Given the description of an element on the screen output the (x, y) to click on. 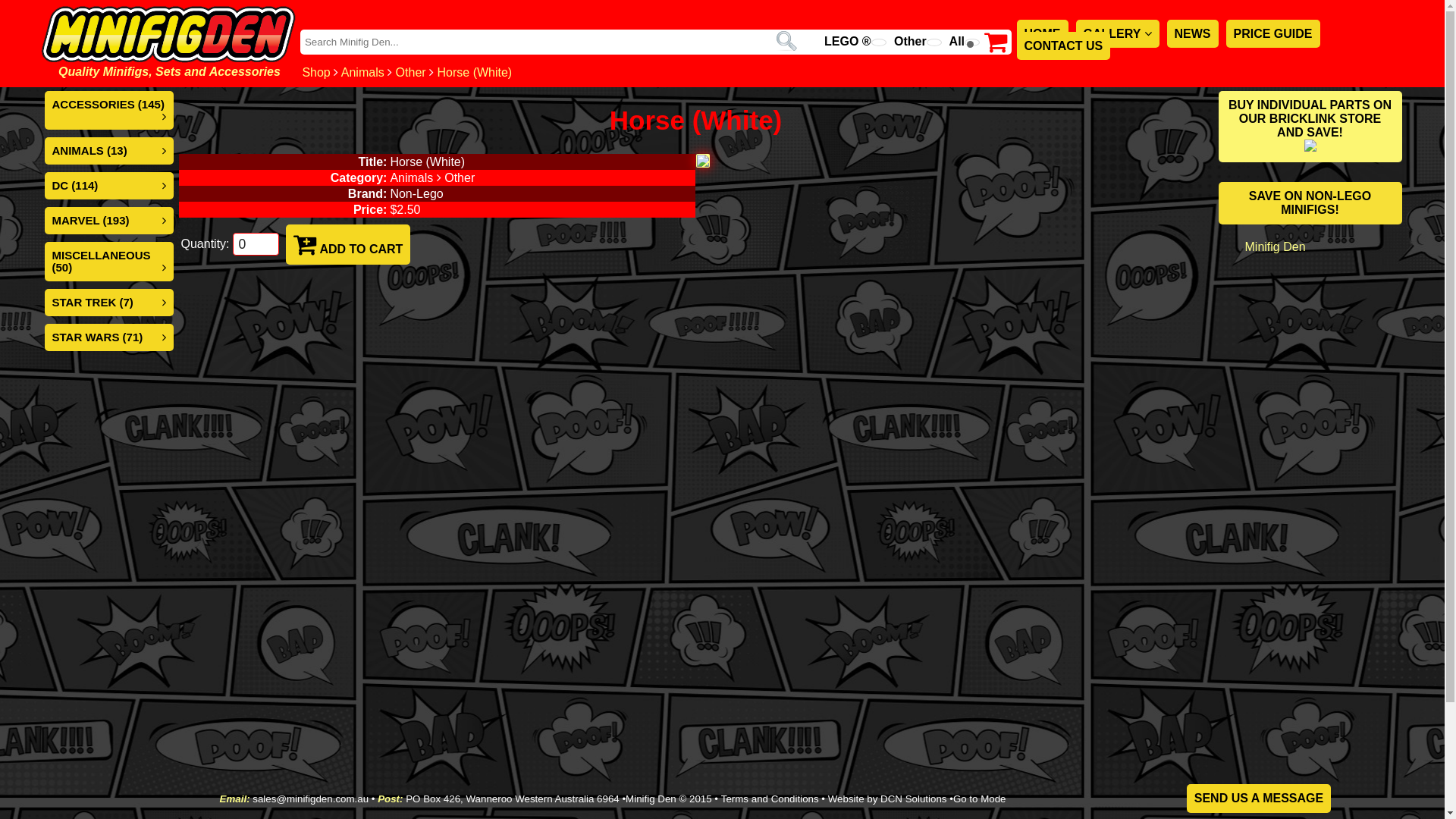
Animals Element type: text (362, 71)
DC (114) Element type: text (74, 184)
Terms and Conditions Element type: text (770, 798)
HOME Element type: text (1041, 33)
Next level Element type: hover (164, 219)
MISCELLANEOUS (50) Element type: text (100, 260)
Next level Element type: hover (164, 185)
Minifig Den Element type: text (1275, 246)
MARVEL (193) Element type: text (89, 219)
SEND US A MESSAGE Element type: text (1258, 798)
Other Element type: text (410, 71)
Add to Cart Element type: hover (304, 244)
ADD TO CART Element type: text (348, 244)
BUY INDIVIDUAL PARTS ON OUR BRICKLINK STORE AND SAVE! Element type: text (1309, 126)
View Cart Element type: hover (995, 41)
Next level Element type: hover (164, 116)
Next level Element type: hover (164, 150)
GALLERY Element type: text (1116, 33)
NEWS Element type: text (1192, 33)
Website by DCN Solutions Element type: text (887, 798)
Next level Element type: hover (164, 301)
STAR WARS (71) Element type: text (96, 336)
Next level Element type: hover (164, 336)
PRICE GUIDE Element type: text (1273, 33)
SAVE ON NON-LEGO MINIFIGS! Element type: text (1309, 203)
STAR TREK (7) Element type: text (91, 301)
Shop Element type: text (315, 71)
View Cart Element type: hover (995, 46)
sales@minifigden.com.au Element type: text (310, 798)
Next level Element type: hover (164, 267)
Horse (White) Element type: text (474, 71)
Go to Mode Element type: text (979, 798)
ANIMALS (13) Element type: text (88, 150)
ACCESSORIES (145) Element type: text (107, 103)
CONTACT US Element type: text (1063, 45)
Next level Element type: hover (1147, 33)
